Given the description of an element on the screen output the (x, y) to click on. 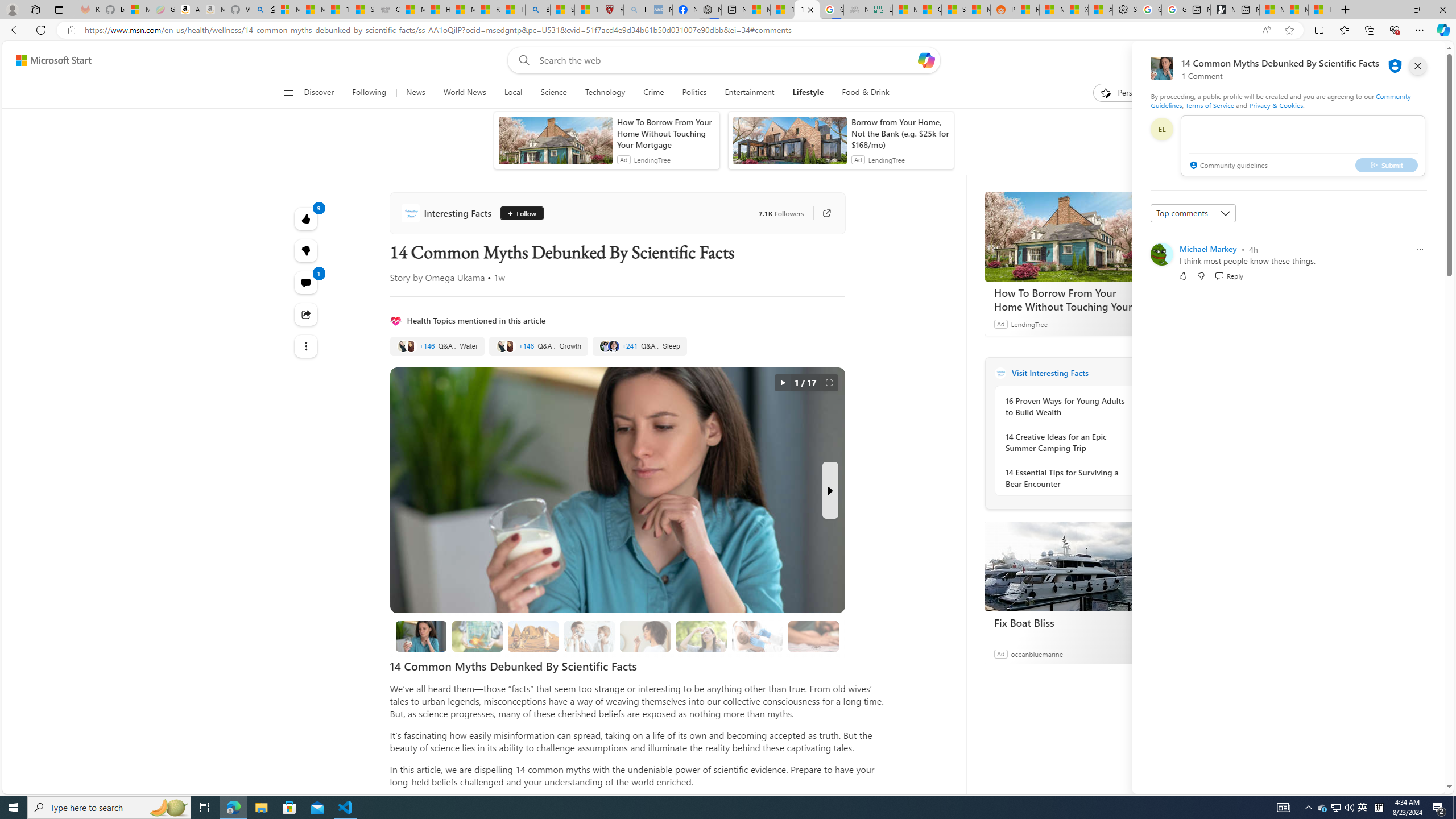
3. Extreme Heat and Humidity (700, 635)
View comments 1 Comment (305, 282)
Sort comments by (1193, 212)
12. Invest in a Spider Catcher (812, 635)
Privacy & Cookies (1276, 104)
oceanbluemarine (1036, 653)
Community guidelines (1228, 165)
14 Creative Ideas for an Epic Summer Camping Trip (1066, 441)
